Given the description of an element on the screen output the (x, y) to click on. 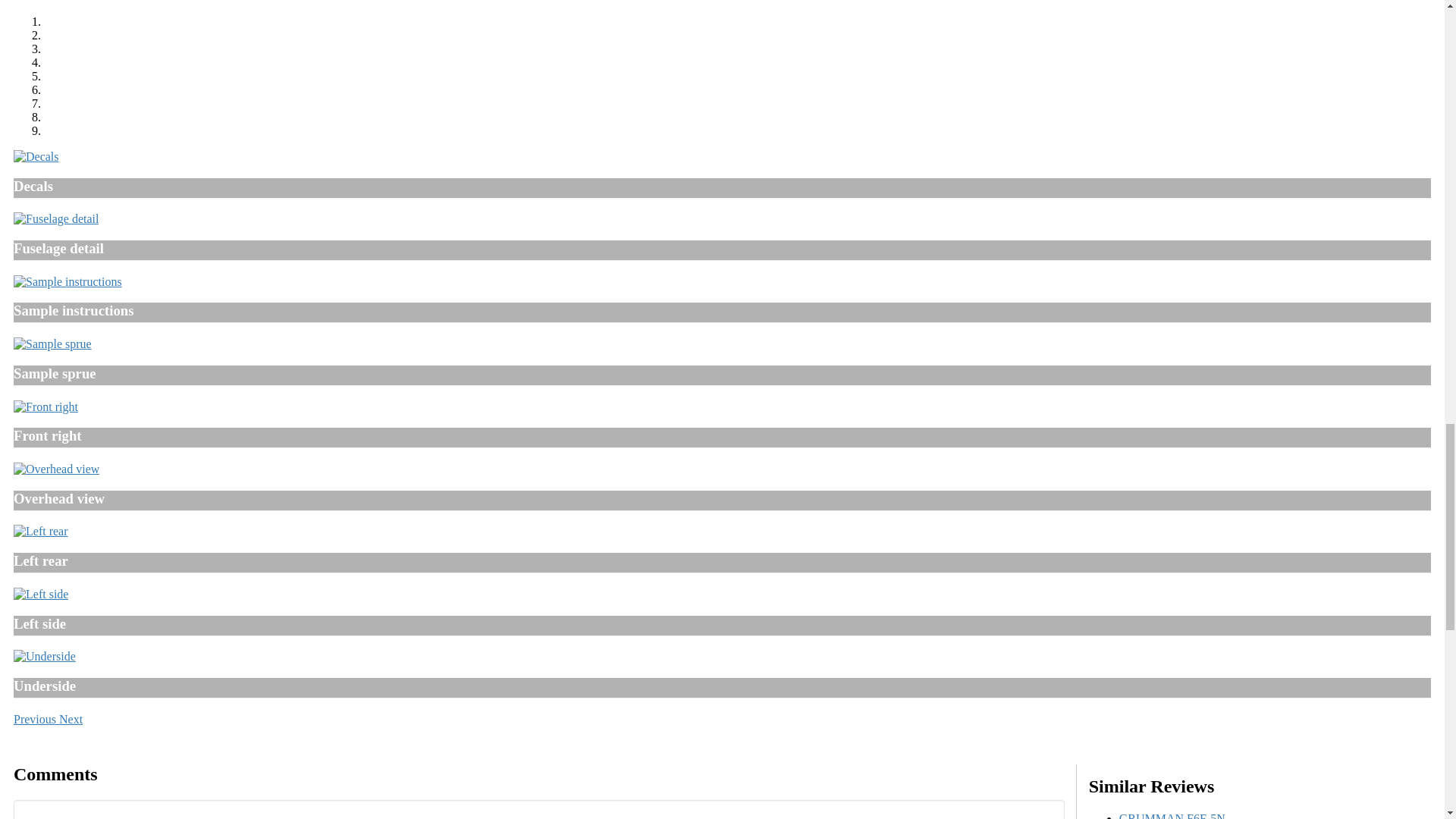
Fuselage detail (56, 218)
Sample instructions (67, 281)
Decals (36, 155)
